Given the description of an element on the screen output the (x, y) to click on. 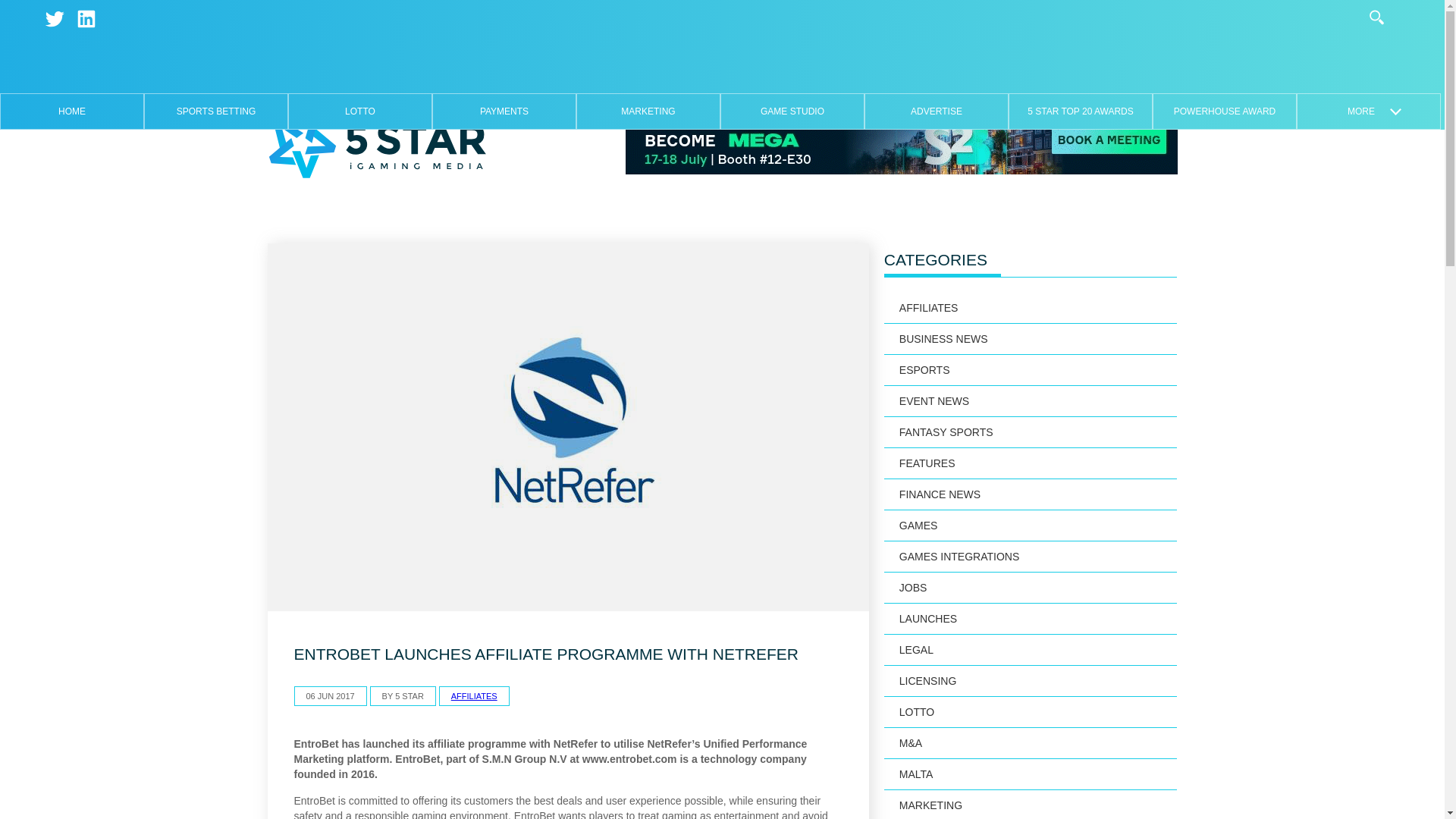
AFFILIATES (474, 696)
EVENT NEWS (1030, 400)
5 STAR TOP 20 AWARDS (1080, 111)
BUSINESS NEWS (1030, 338)
ESPORTS (1030, 369)
PAYMENTS (503, 111)
MARKETING (647, 111)
POWERHOUSE AWARD (1224, 111)
SPORTS BETTING (215, 111)
AFFILIATES (1030, 307)
FANTASY SPORTS (1030, 432)
ADVERTISE (935, 111)
MORE       (1368, 111)
LOTTO (359, 111)
GAME STUDIO (791, 111)
